Given the description of an element on the screen output the (x, y) to click on. 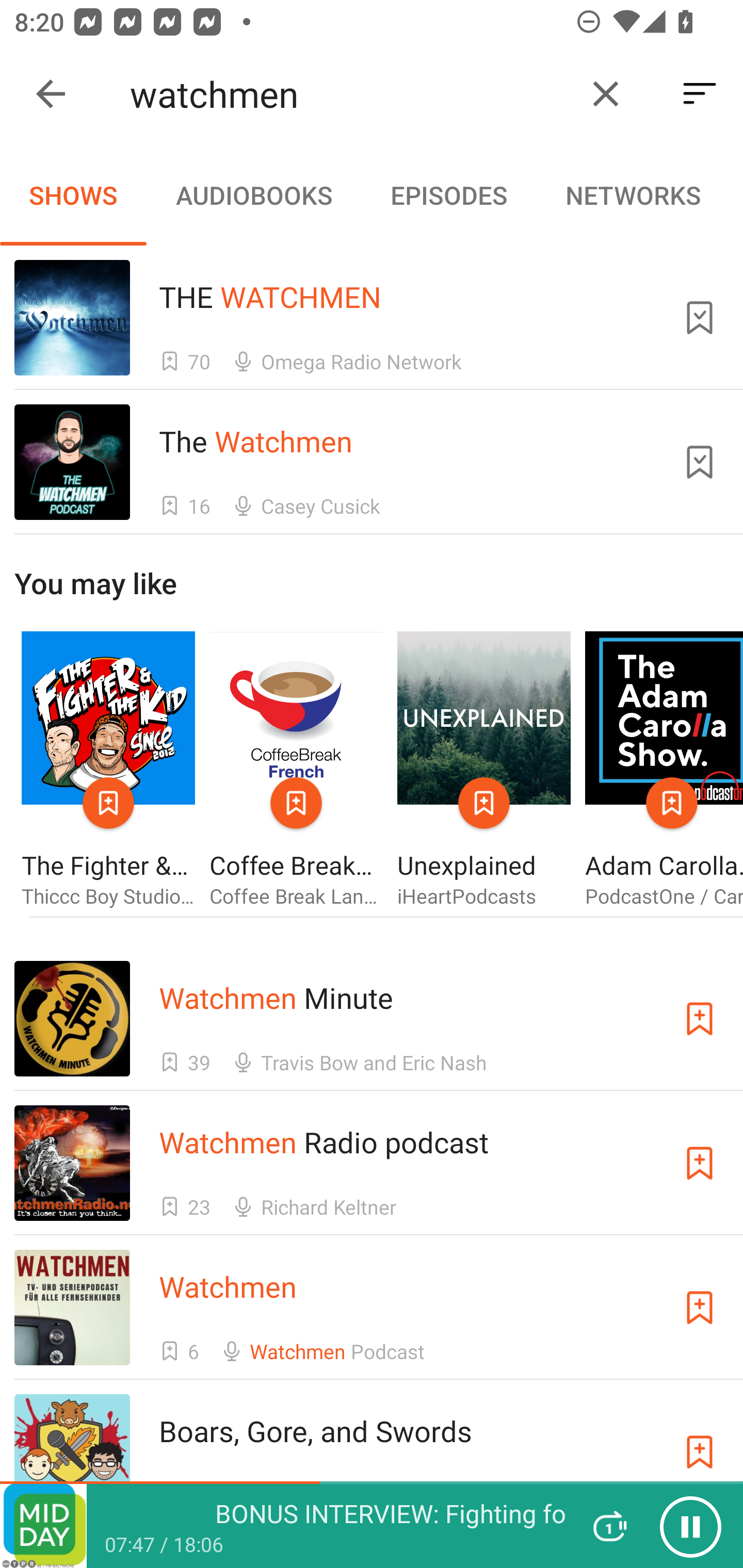
Collapse (50, 93)
Clear query (605, 93)
Sort By (699, 93)
watchmen (349, 94)
SHOWS (73, 195)
AUDIOBOOKS (253, 195)
EPISODES (448, 195)
NETWORKS (632, 195)
Unsubscribe (699, 317)
Unsubscribe (699, 462)
Coffee Break French Coffee Break Languages (295, 770)
Unexplained iHeartPodcasts (483, 770)
Adam Carolla Show PodcastOne / Carolla Digital (664, 770)
